Given the description of an element on the screen output the (x, y) to click on. 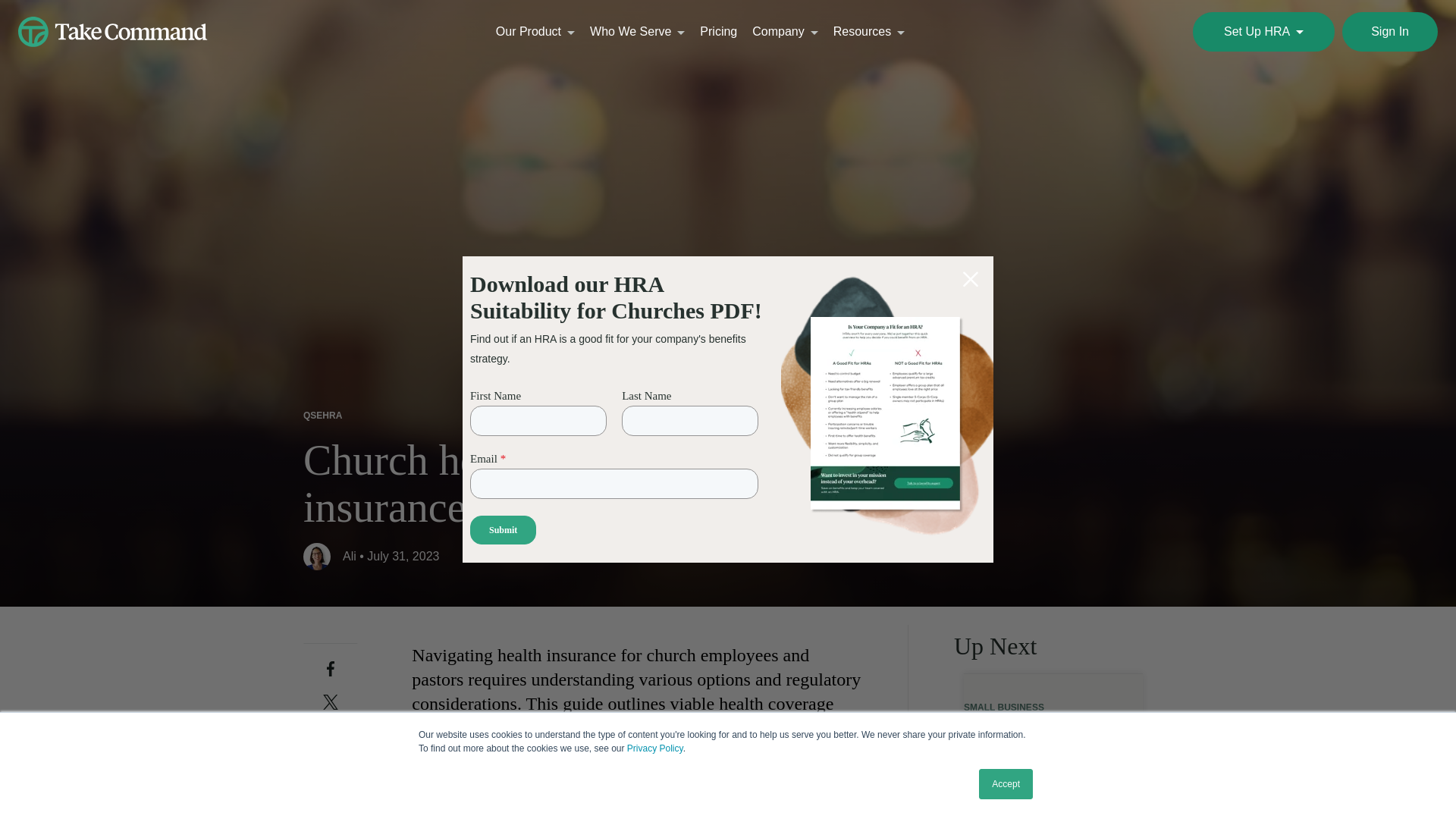
Company (784, 31)
Who We Serve (637, 31)
Resources (868, 31)
Our Product (534, 31)
Accept (1005, 784)
Privacy Policy (654, 747)
